Given the description of an element on the screen output the (x, y) to click on. 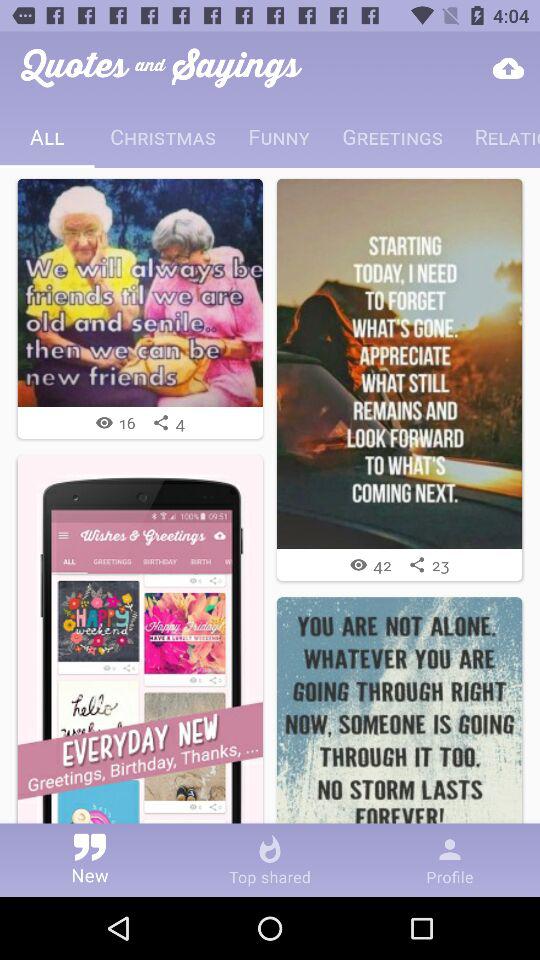
see this picture (139, 292)
